Given the description of an element on the screen output the (x, y) to click on. 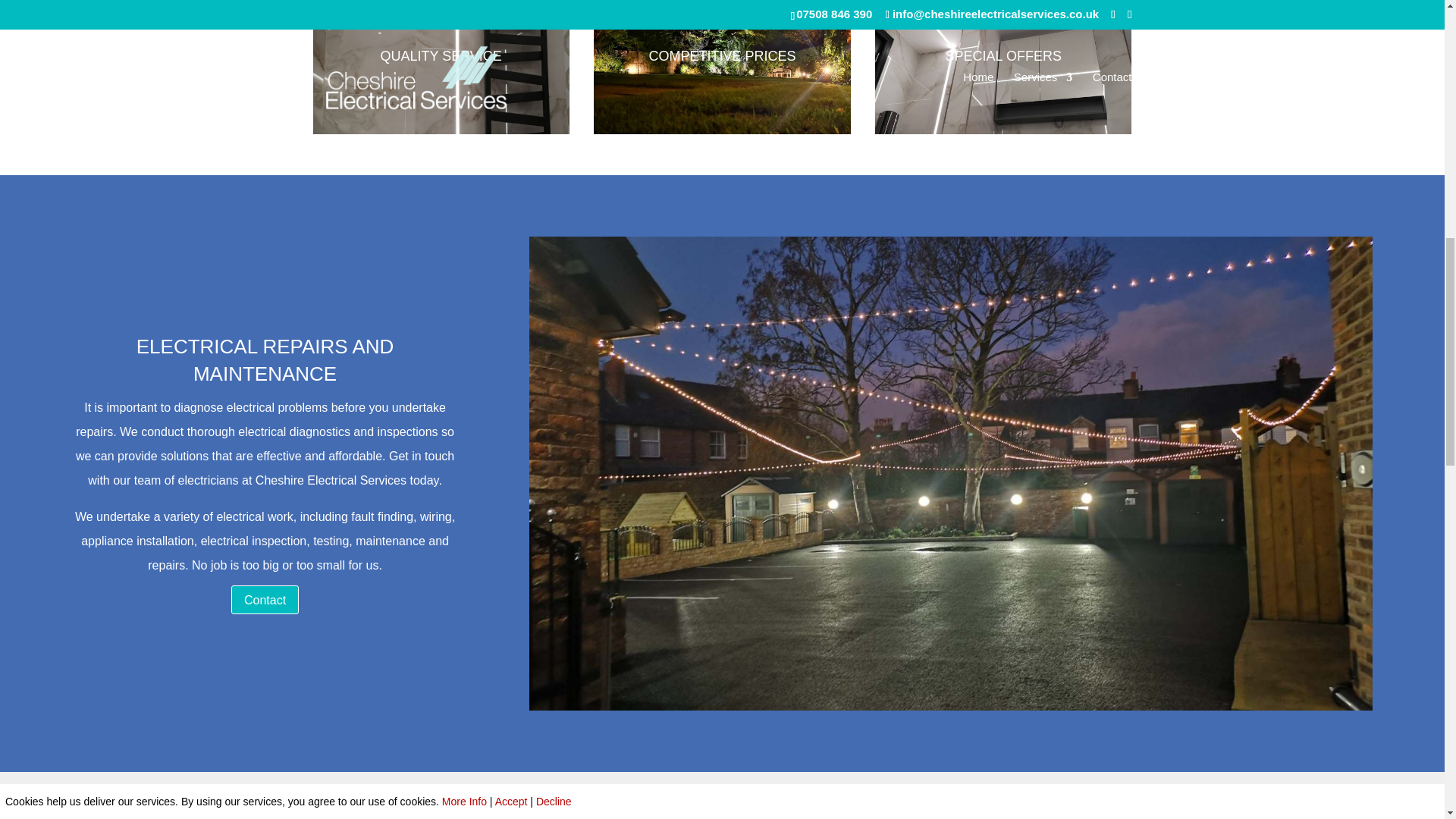
Contact (264, 600)
